Given the description of an element on the screen output the (x, y) to click on. 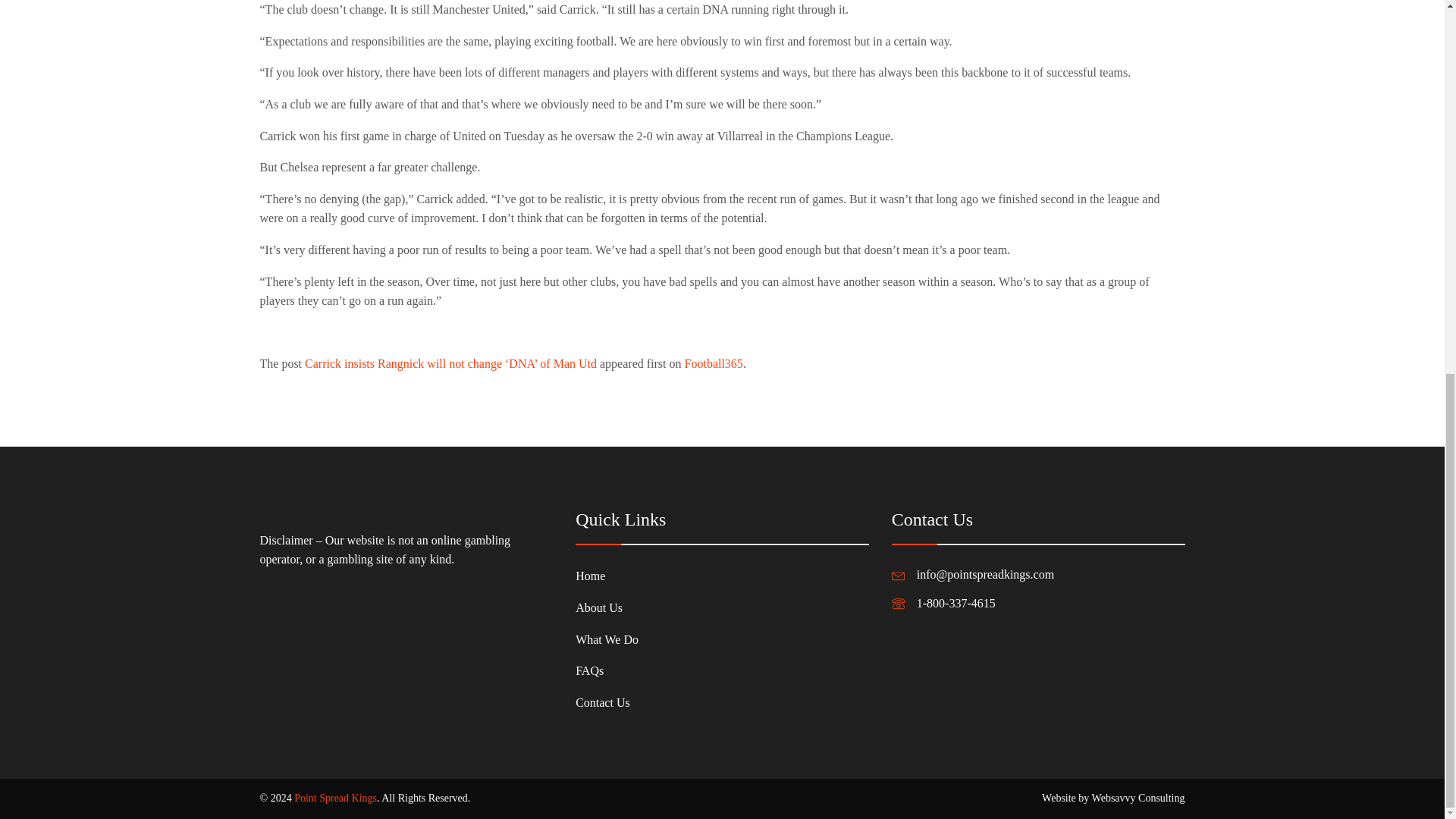
About Us (607, 608)
Contact Us (607, 703)
Football365 (713, 363)
What We Do (607, 640)
FAQs (607, 671)
Home (607, 576)
Point Spread Kings (335, 797)
Website by Websavvy Consulting (1113, 798)
1-800-337-4615 (956, 603)
